Given the description of an element on the screen output the (x, y) to click on. 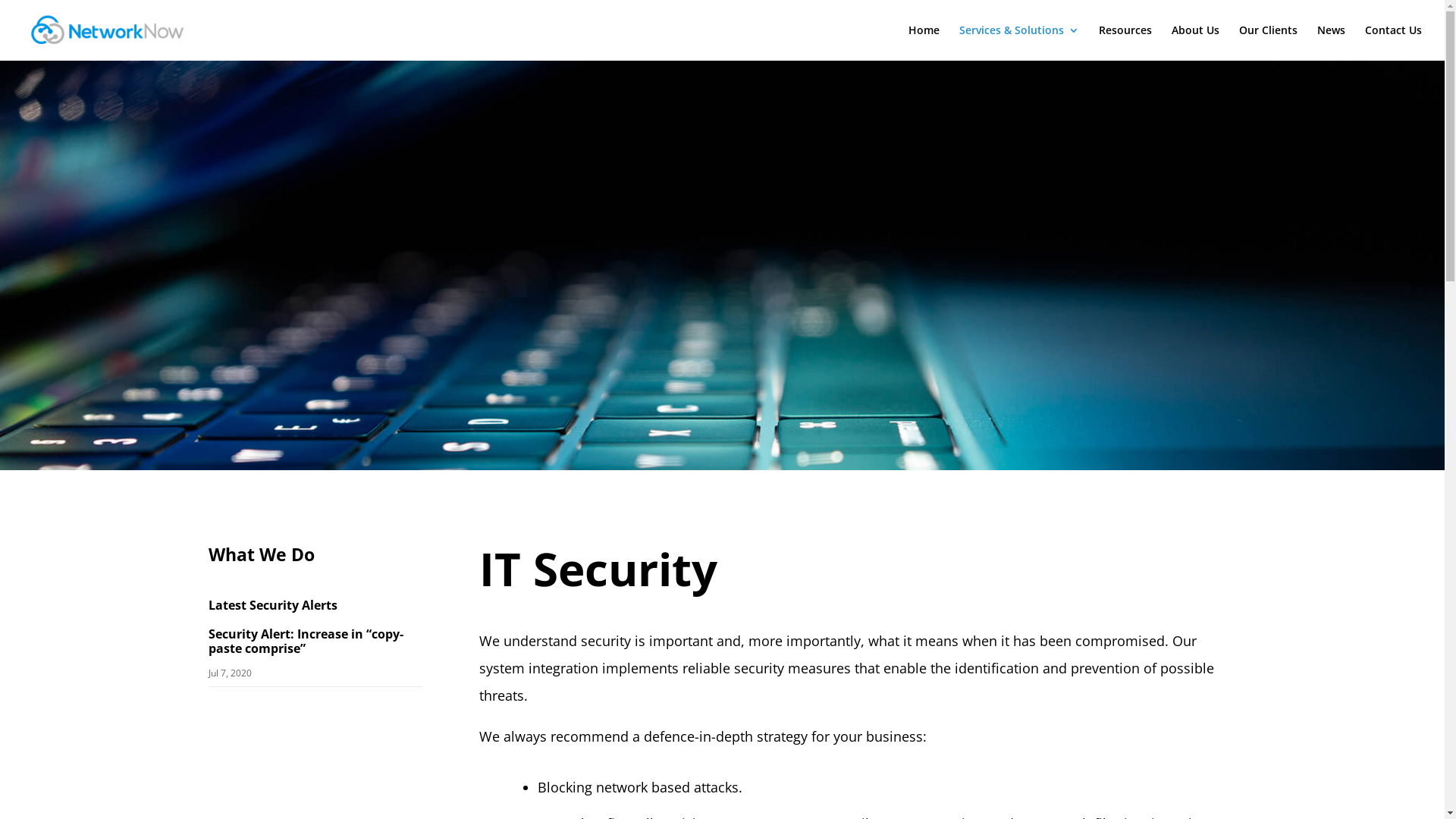
Resources Element type: text (1124, 42)
Home Element type: text (923, 42)
Services & Solutions Element type: text (1019, 42)
Contact Us Element type: text (1393, 42)
News Element type: text (1331, 42)
About Us Element type: text (1195, 42)
Our Clients Element type: text (1268, 42)
